Given the description of an element on the screen output the (x, y) to click on. 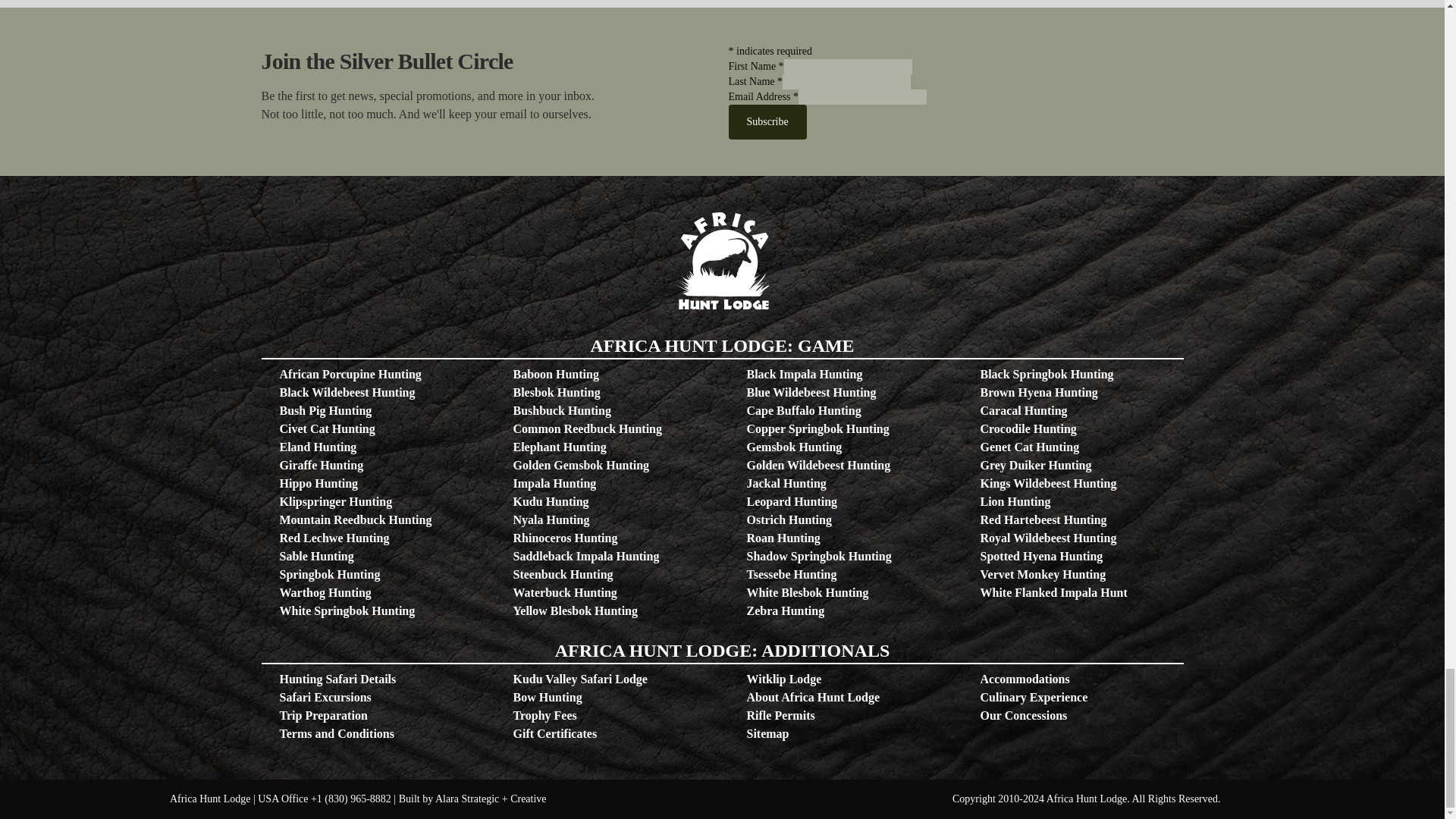
Subscribe (767, 121)
